Given the description of an element on the screen output the (x, y) to click on. 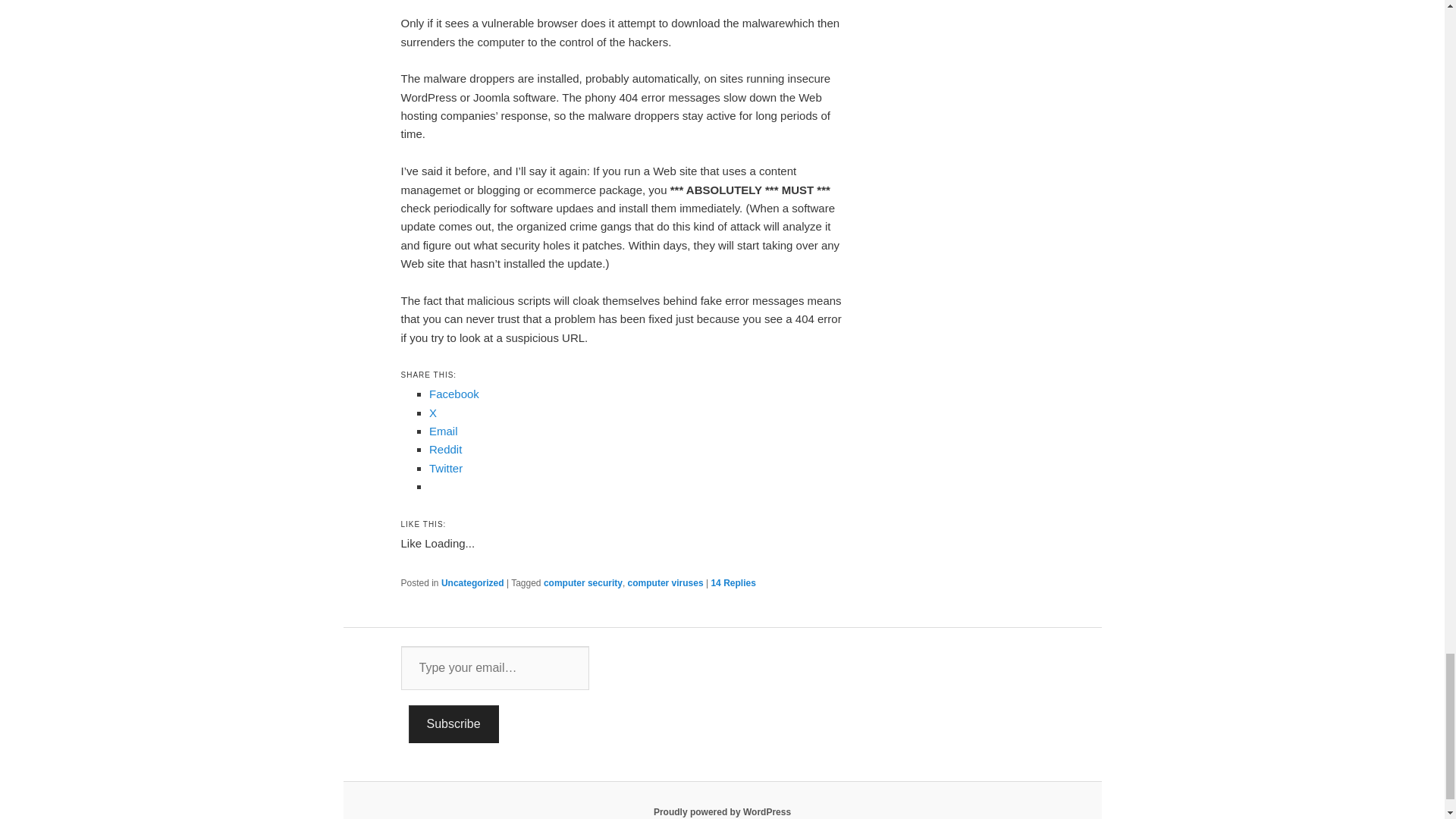
Please fill in this field. (494, 668)
Click to email a link to a friend (443, 431)
Email (443, 431)
computer security (583, 583)
Reddit (445, 449)
Click to share on Twitter (446, 468)
Click to share on Reddit (445, 449)
Click to share on Facebook (454, 393)
Facebook (454, 393)
computer viruses (665, 583)
